Given the description of an element on the screen output the (x, y) to click on. 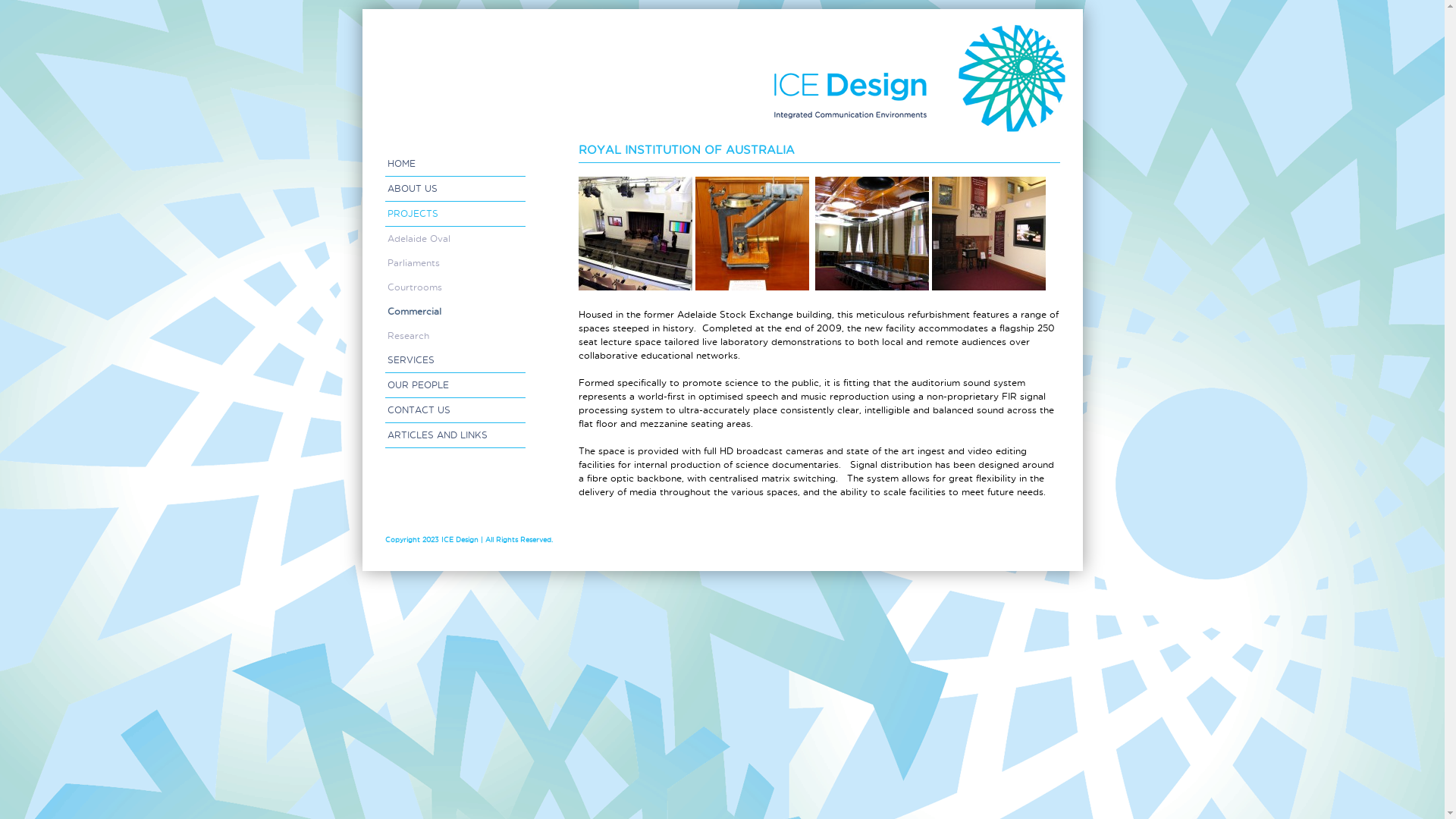
Courtrooms Element type: text (455, 287)
Royal Institution of Australia Element type: hover (634, 233)
ARTICLES AND LINKS Element type: text (455, 435)
PROJECTS Element type: text (455, 213)
Research Element type: text (455, 335)
Royal Institution Australia Element type: hover (871, 233)
Royal Institution Australia Element type: hover (987, 233)
Commercial Element type: text (455, 311)
CONTACT US Element type: text (455, 410)
ABOUT US Element type: text (455, 188)
OUR PEOPLE Element type: text (455, 385)
HOME Element type: text (455, 163)
Royal Institution Exhibit Element type: hover (751, 233)
Adelaide Oval Element type: text (455, 238)
Parliaments Element type: text (455, 263)
SERVICES Element type: text (455, 360)
